Given the description of an element on the screen output the (x, y) to click on. 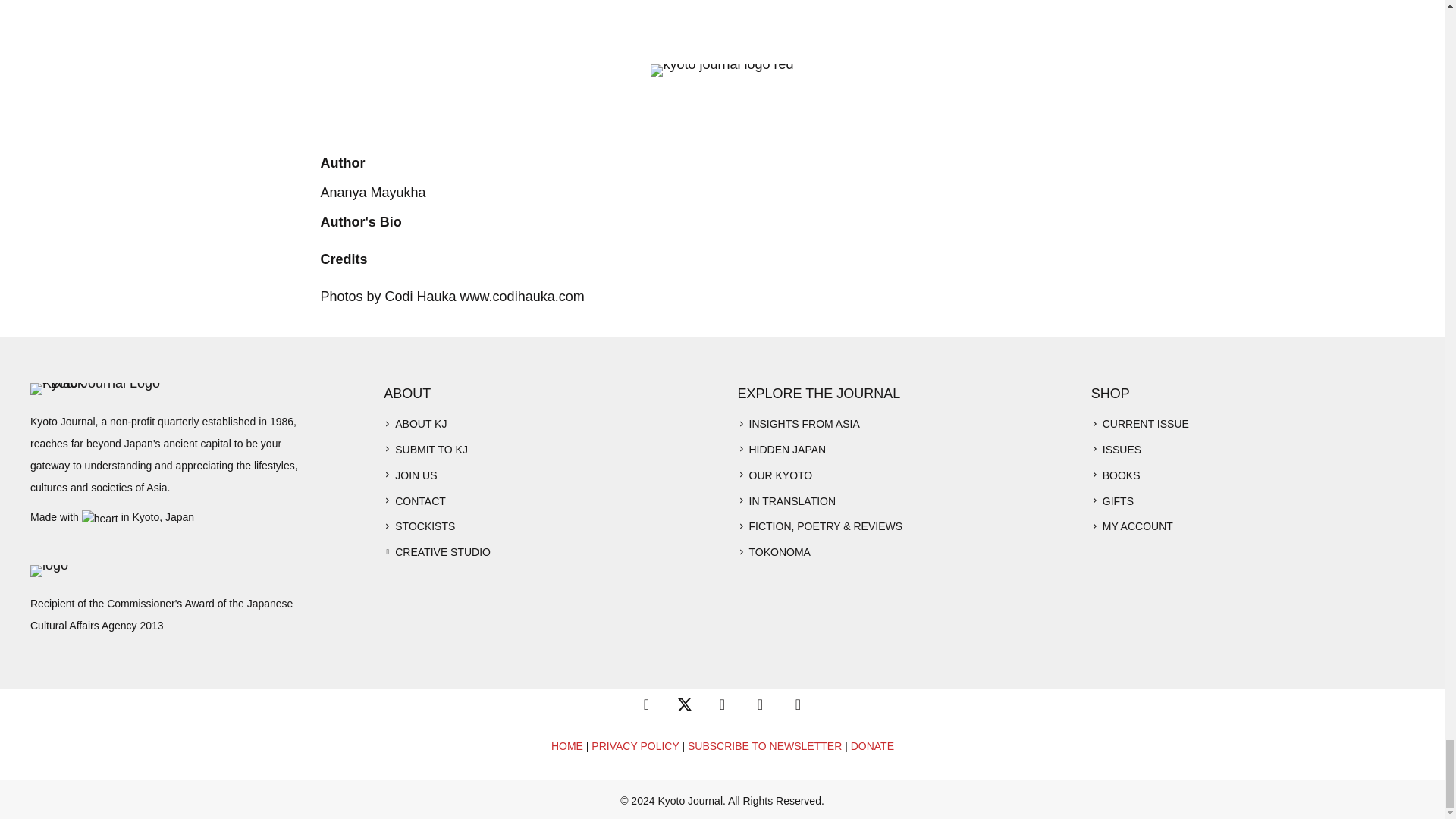
CONTACT (419, 501)
kyoto journal logo red (721, 70)
Facebook (645, 704)
CURRENT ISSUE (1145, 423)
IN TRANSLATION (792, 500)
HIDDEN JAPAN (788, 449)
MY ACCOUNT (1137, 526)
TOKONOMA (779, 551)
INSIGHTS FROM ASIA (804, 423)
BOOKS (1121, 475)
